Given the description of an element on the screen output the (x, y) to click on. 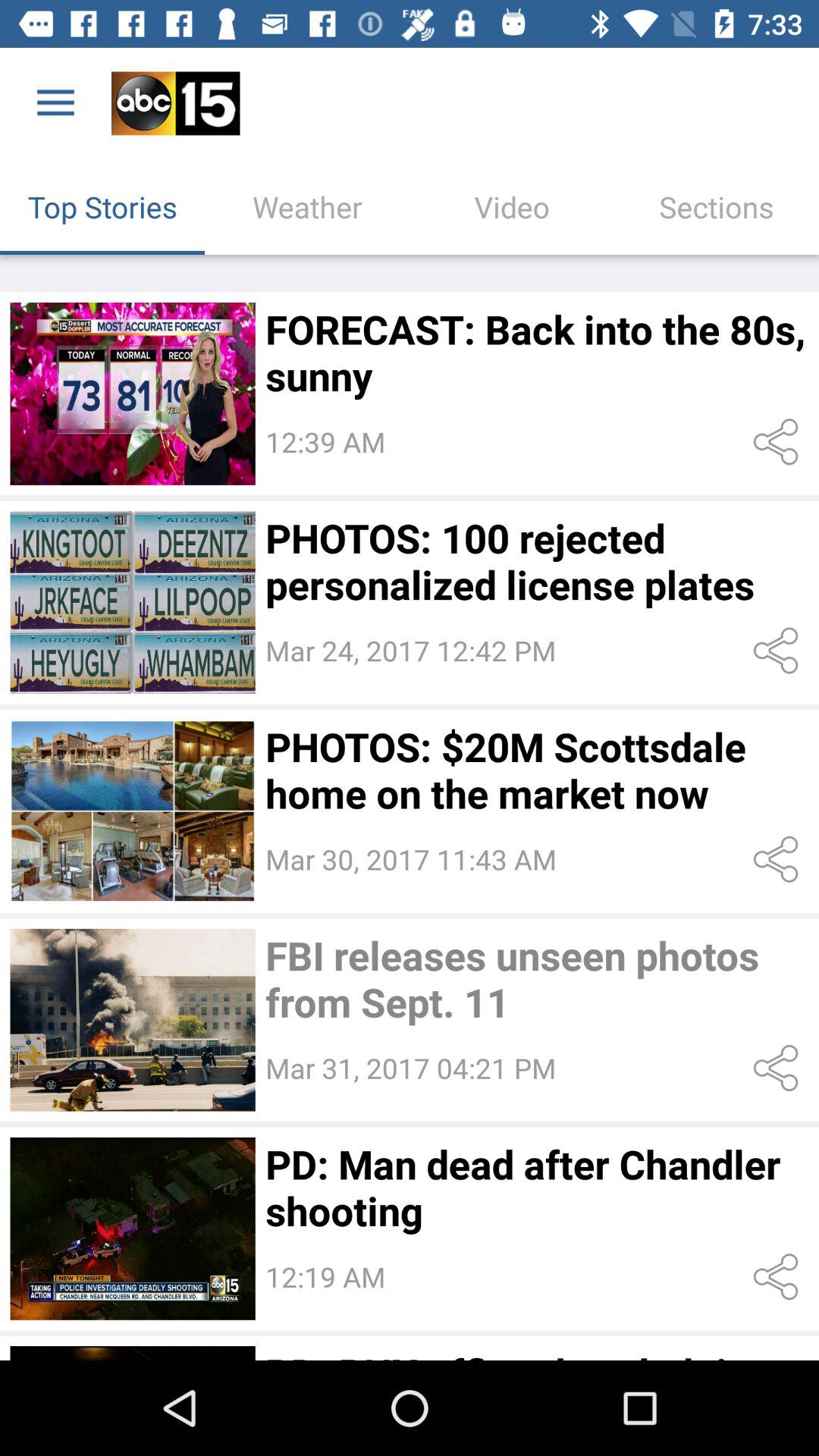
select video (132, 393)
